Given the description of an element on the screen output the (x, y) to click on. 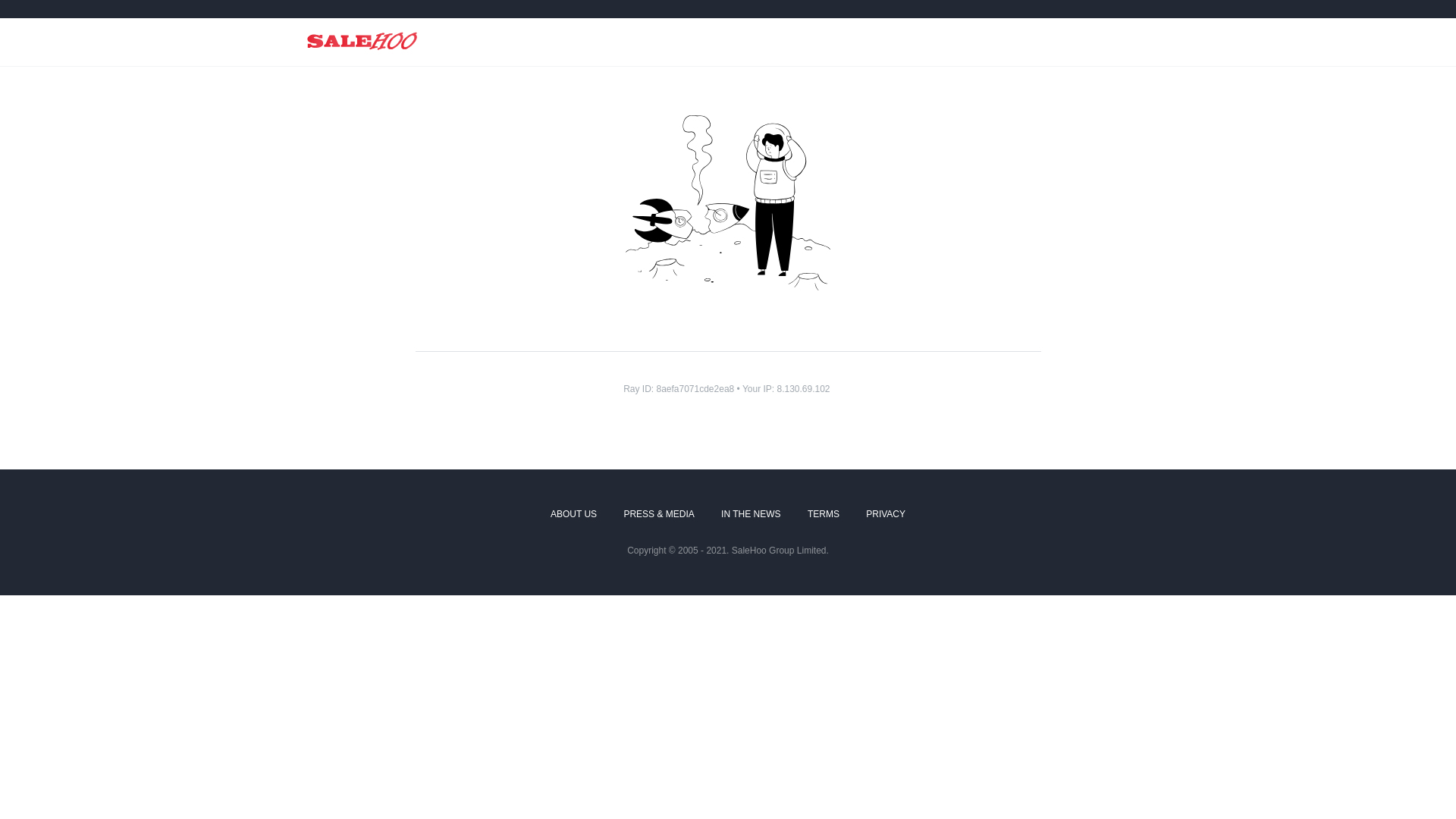
TERMS (824, 514)
ABOUT US (573, 514)
IN THE NEWS (750, 514)
PRIVACY (885, 514)
